Given the description of an element on the screen output the (x, y) to click on. 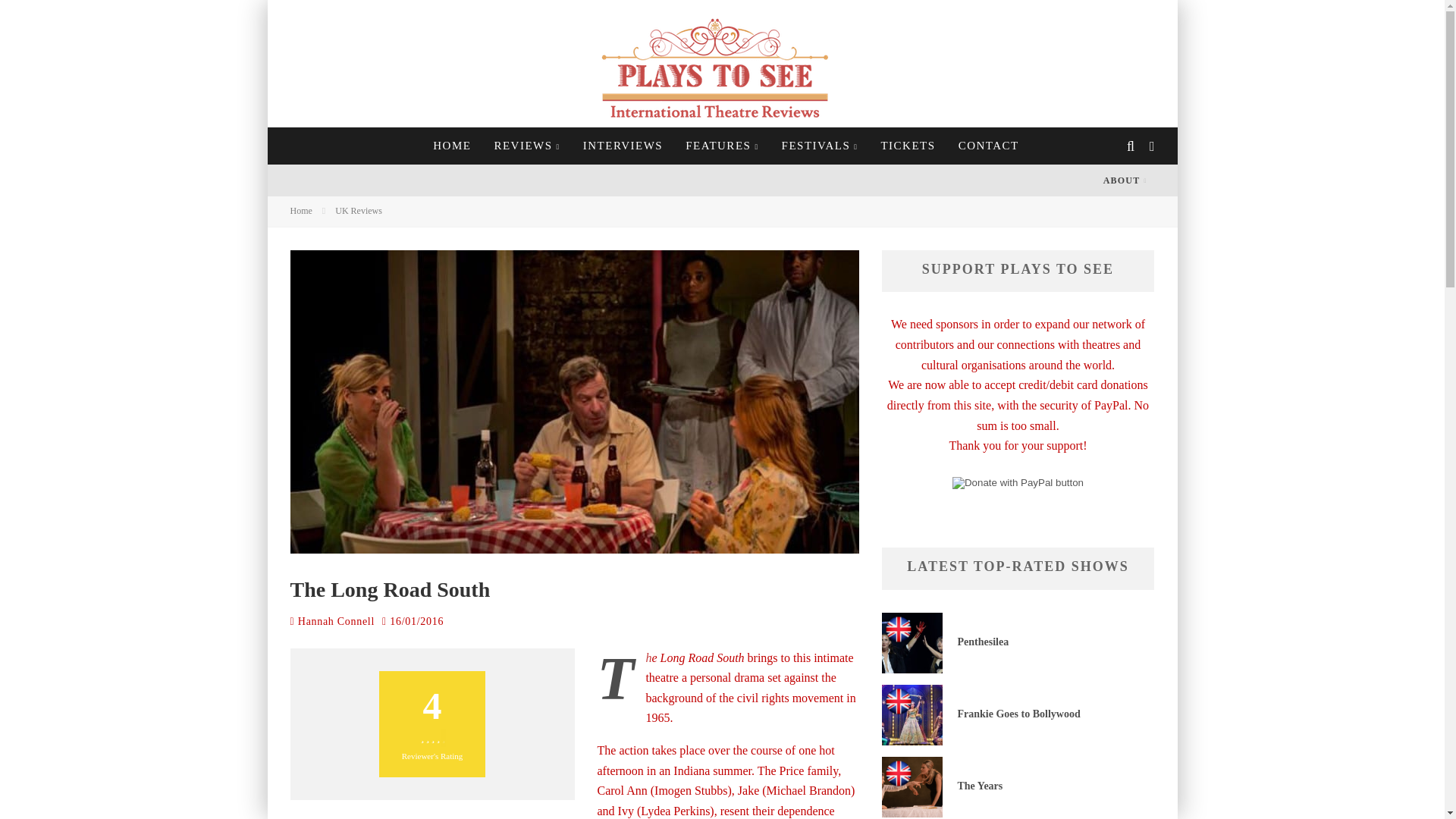
PayPal - The safer, easier way to pay online! (1017, 481)
HOME (451, 145)
REVIEWS (525, 145)
